Given the description of an element on the screen output the (x, y) to click on. 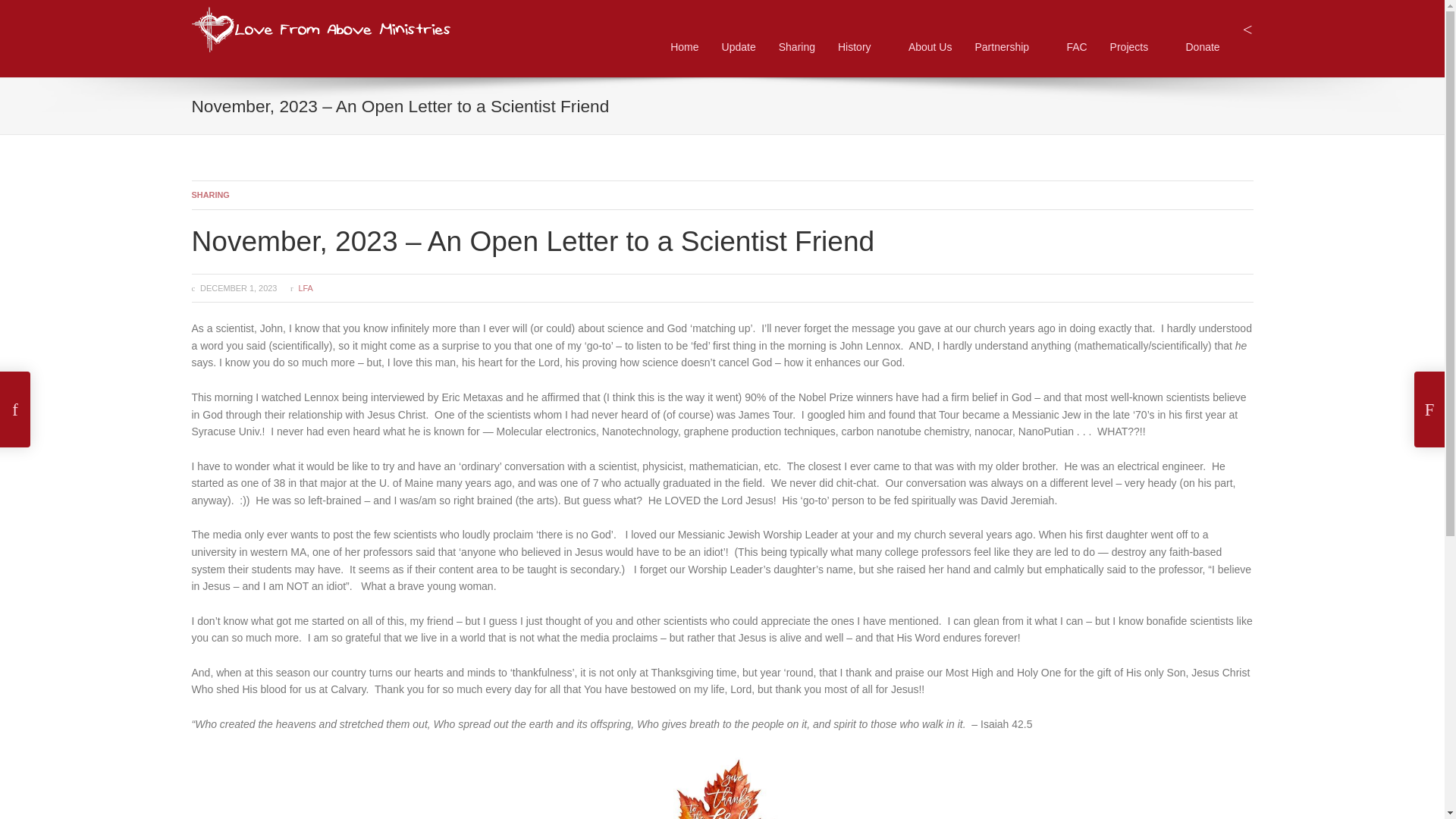
Sharing (796, 47)
Projects (1136, 47)
SHARING (209, 194)
Partnership (1008, 47)
Donate (1202, 47)
Update (739, 47)
Home (684, 47)
About Us (930, 47)
LFA (305, 287)
History (319, 11)
FAC (861, 47)
